Given the description of an element on the screen output the (x, y) to click on. 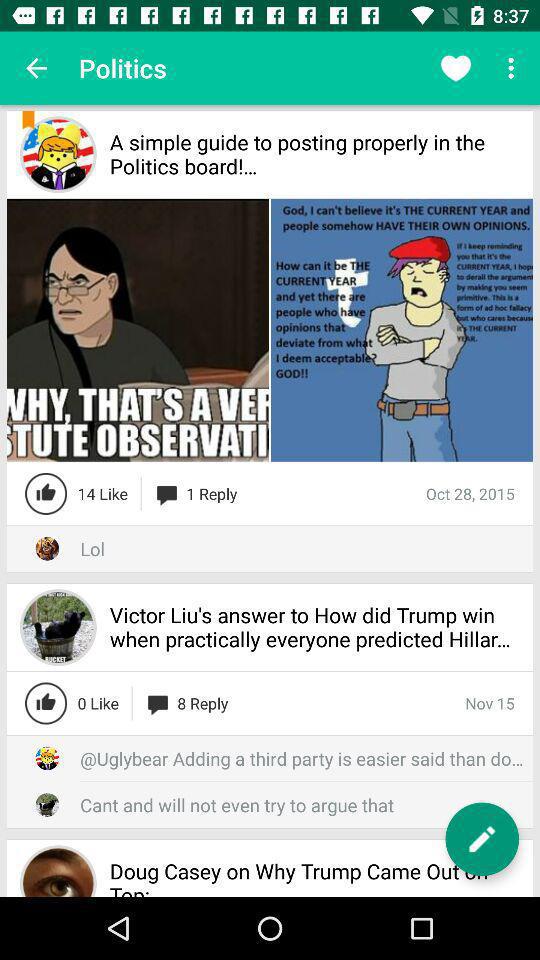
edit this (482, 839)
